Given the description of an element on the screen output the (x, y) to click on. 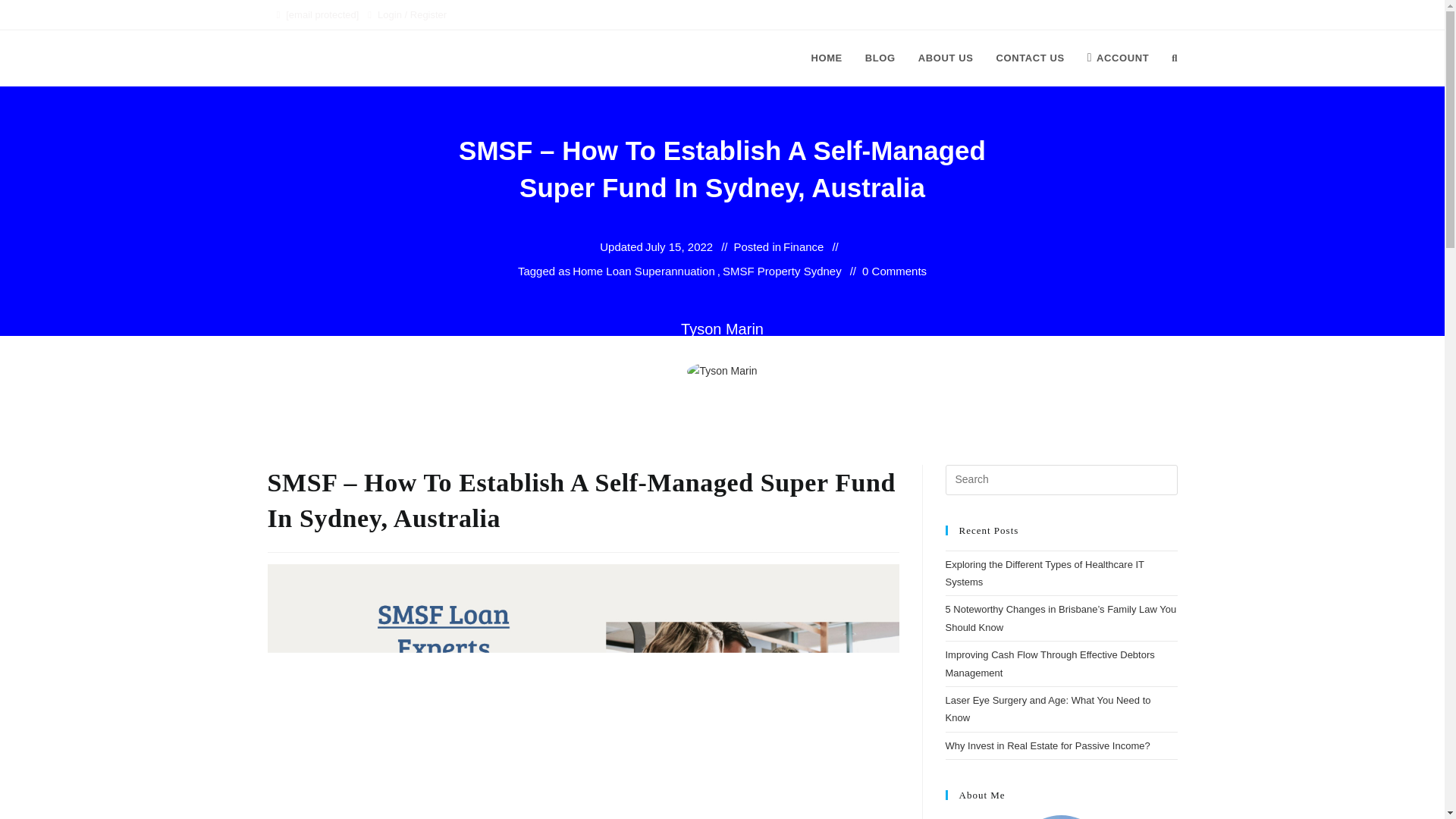
Register (428, 14)
ABOUT US (946, 58)
Walldrawn (308, 58)
BLOG (880, 58)
SMSF Property Sydney (781, 271)
Home Loan Superannuation (643, 271)
Finance (803, 246)
ACCOUNT (1117, 58)
Login (389, 14)
0 Comments (893, 271)
